Given the description of an element on the screen output the (x, y) to click on. 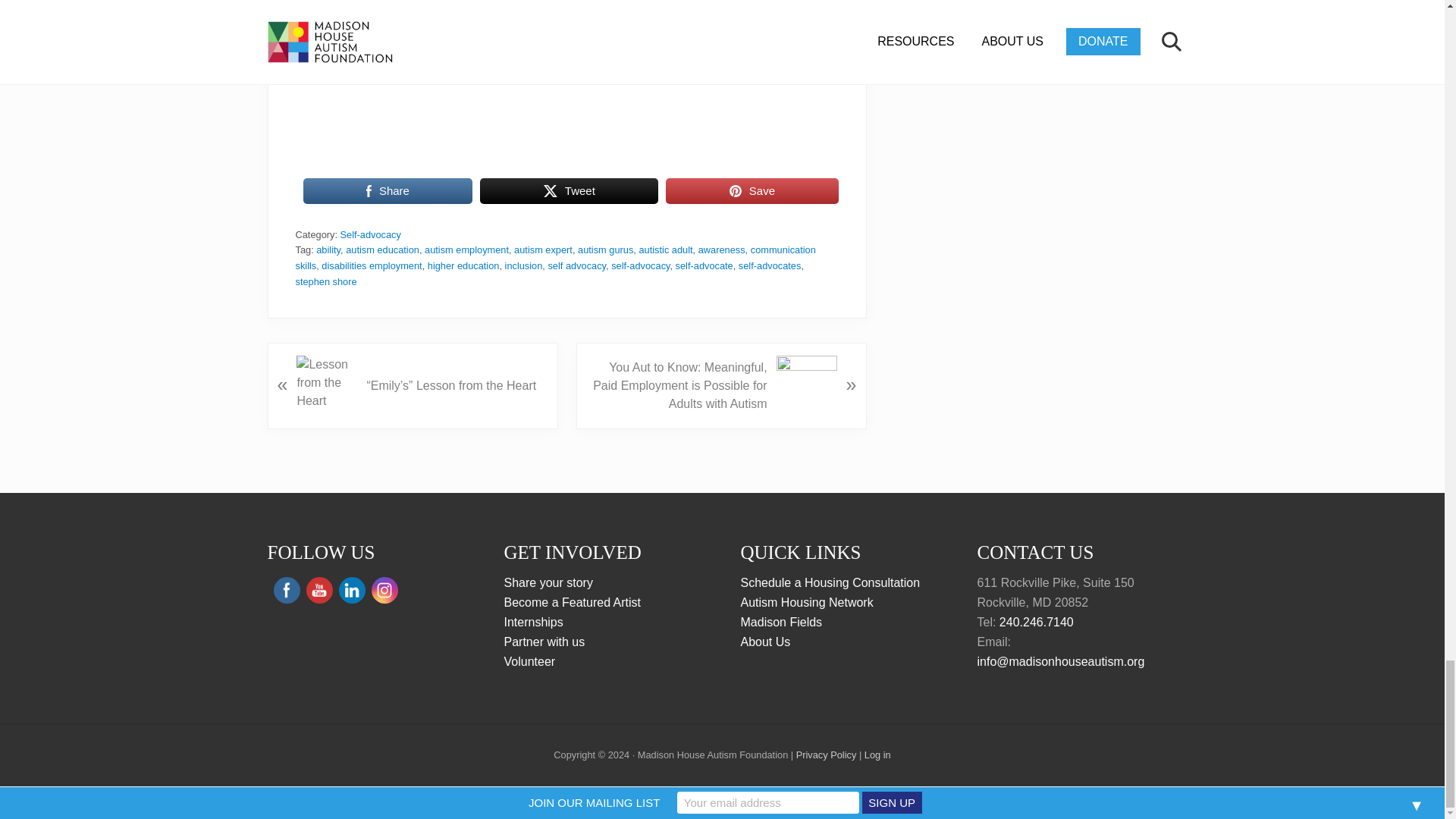
Facebook (286, 590)
YouTube (318, 590)
Self-advocacy (370, 234)
Save (751, 190)
Share (387, 190)
Tweet (569, 190)
